Given the description of an element on the screen output the (x, y) to click on. 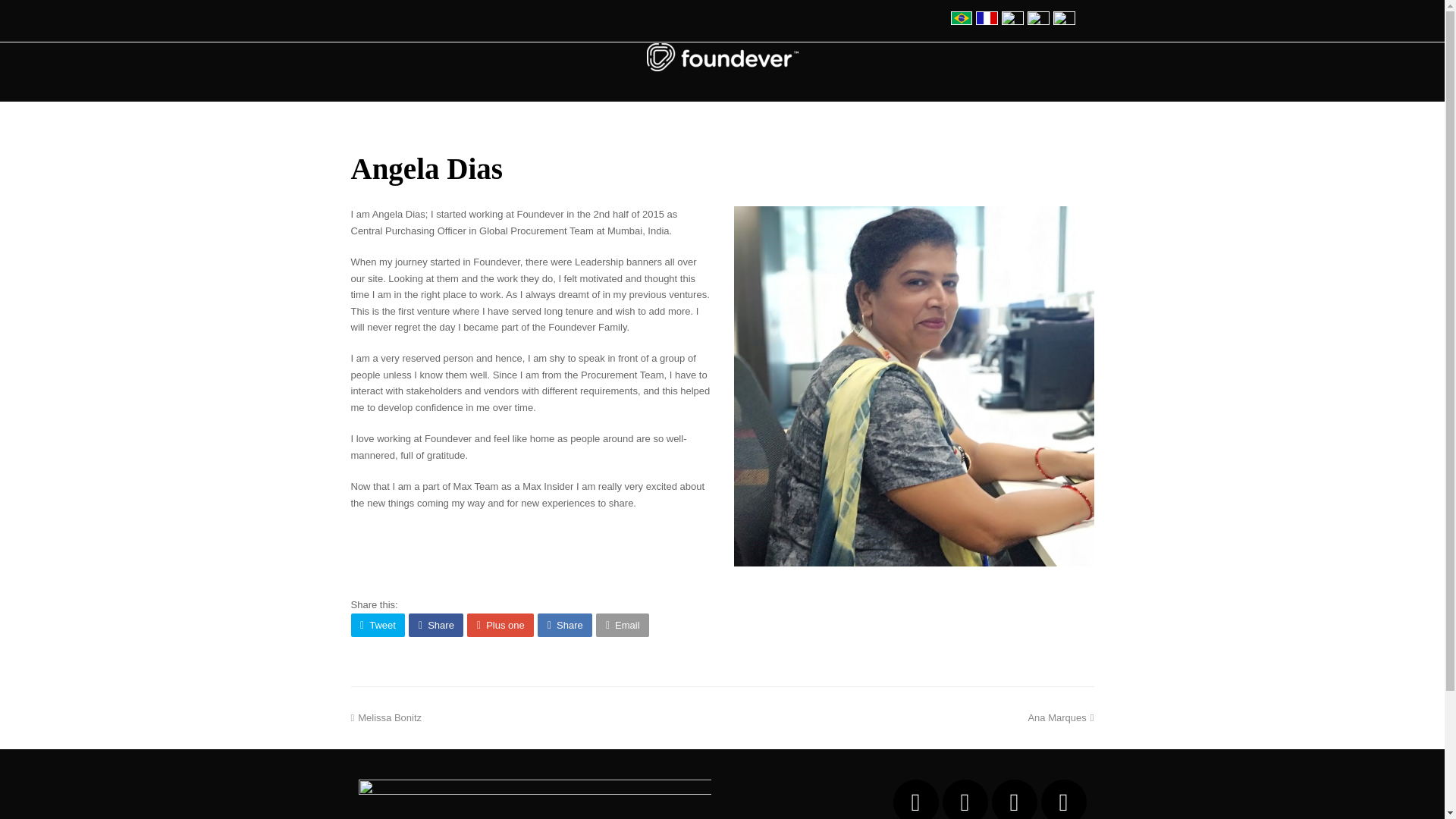
Plus one (500, 625)
Youtube (386, 717)
Facebook (916, 799)
LinkedIn (964, 799)
Email (1013, 799)
Share (622, 625)
Facebook (436, 625)
LinkedIn (964, 799)
Tweet (1013, 799)
Share (377, 625)
Twitter (564, 625)
Youtube (1063, 799)
Twitter (916, 799)
